Given the description of an element on the screen output the (x, y) to click on. 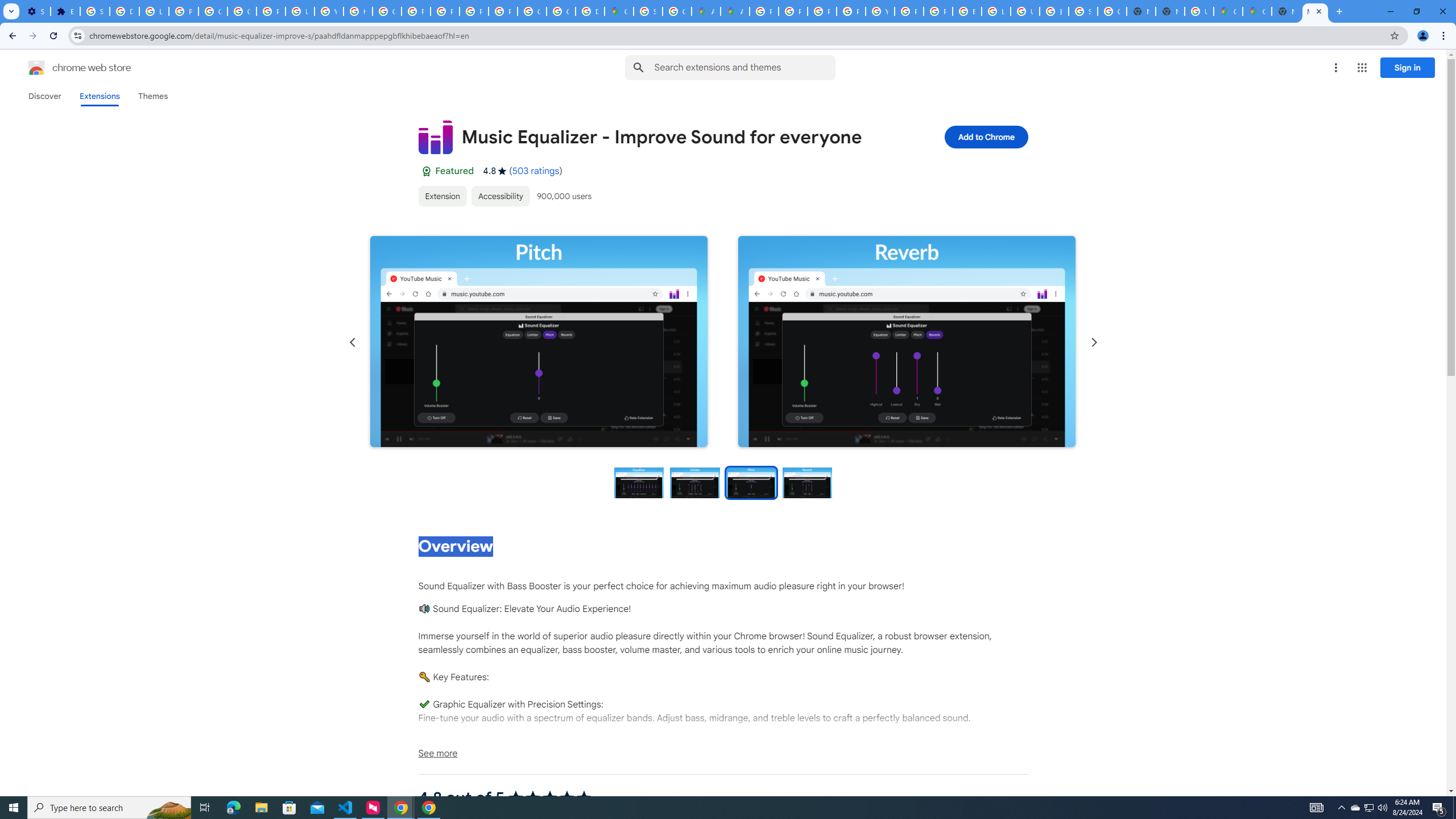
Item media 3 screenshot (538, 342)
Chrome Web Store logo chrome web store (67, 67)
See more (722, 753)
Delete photos & videos - Computer - Google Photos Help (124, 11)
Featured Badge (425, 170)
Google Maps (619, 11)
Item media 3 screenshot (538, 341)
